Given the description of an element on the screen output the (x, y) to click on. 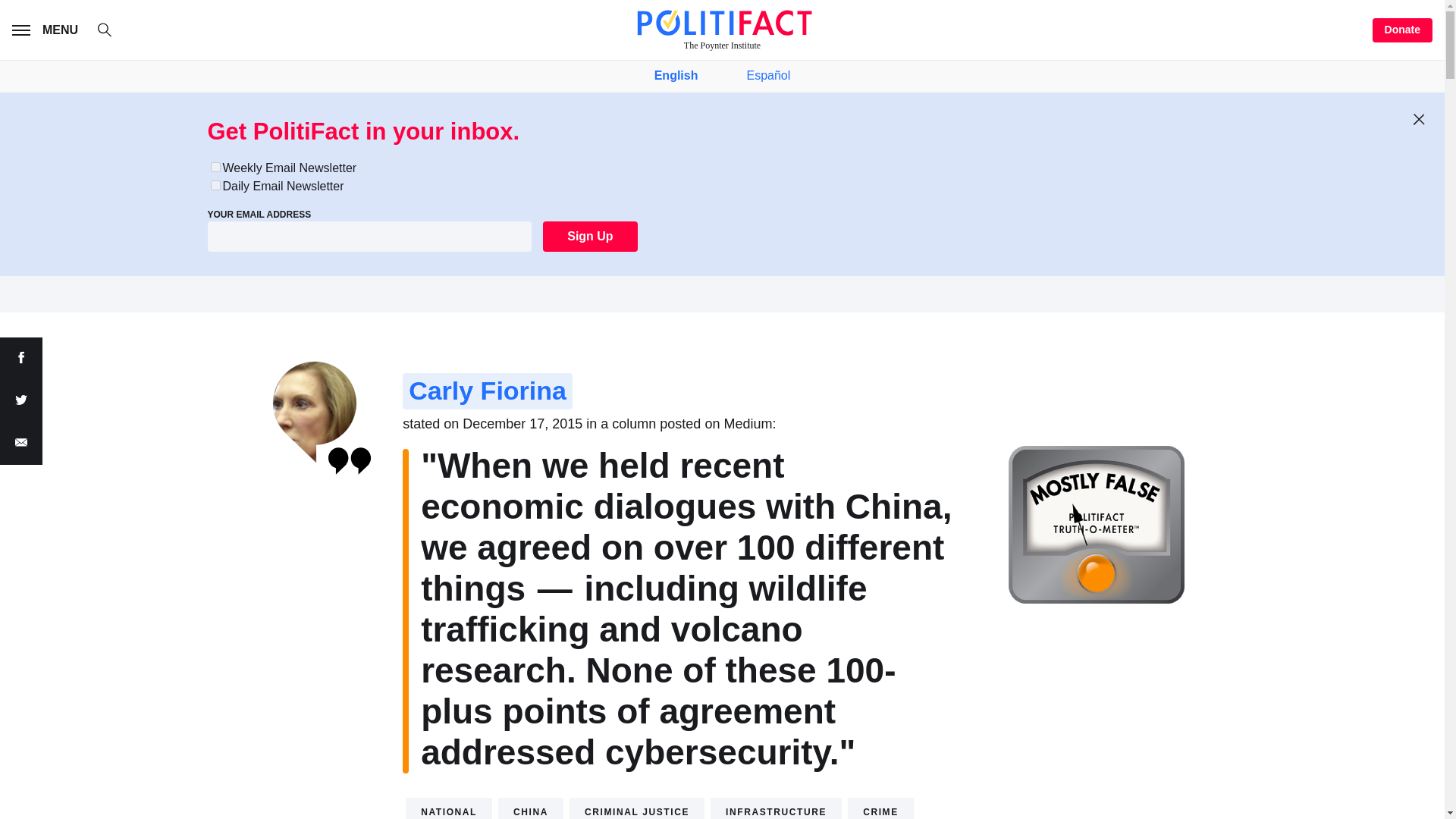
Search (111, 31)
Donate (1402, 30)
Infrastructure (775, 808)
China (530, 808)
National (449, 808)
Criminal Justice (636, 808)
The Poynter Institute (721, 29)
Carly Fiorina (487, 391)
